Given the description of an element on the screen output the (x, y) to click on. 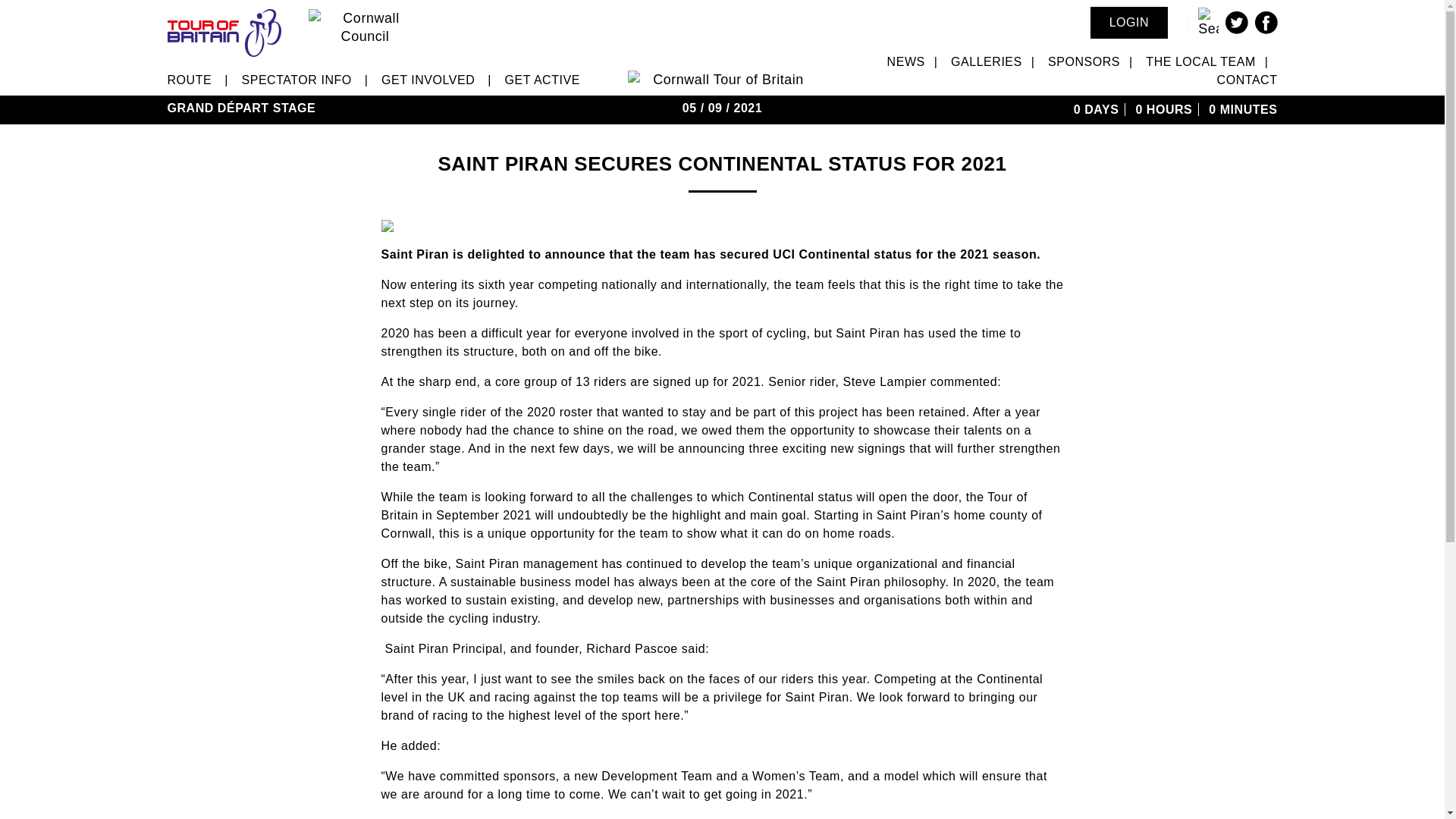
LOGIN (1129, 22)
THE LOCAL TEAM (1200, 61)
SPECTATOR INFO (295, 79)
GET ACTIVE (542, 79)
CONTACT (1247, 79)
GET INVOLVED (427, 79)
GALLERIES (986, 61)
NEWS (905, 61)
Search (27, 10)
ROUTE (189, 79)
SPONSORS (1083, 61)
